Given the description of an element on the screen output the (x, y) to click on. 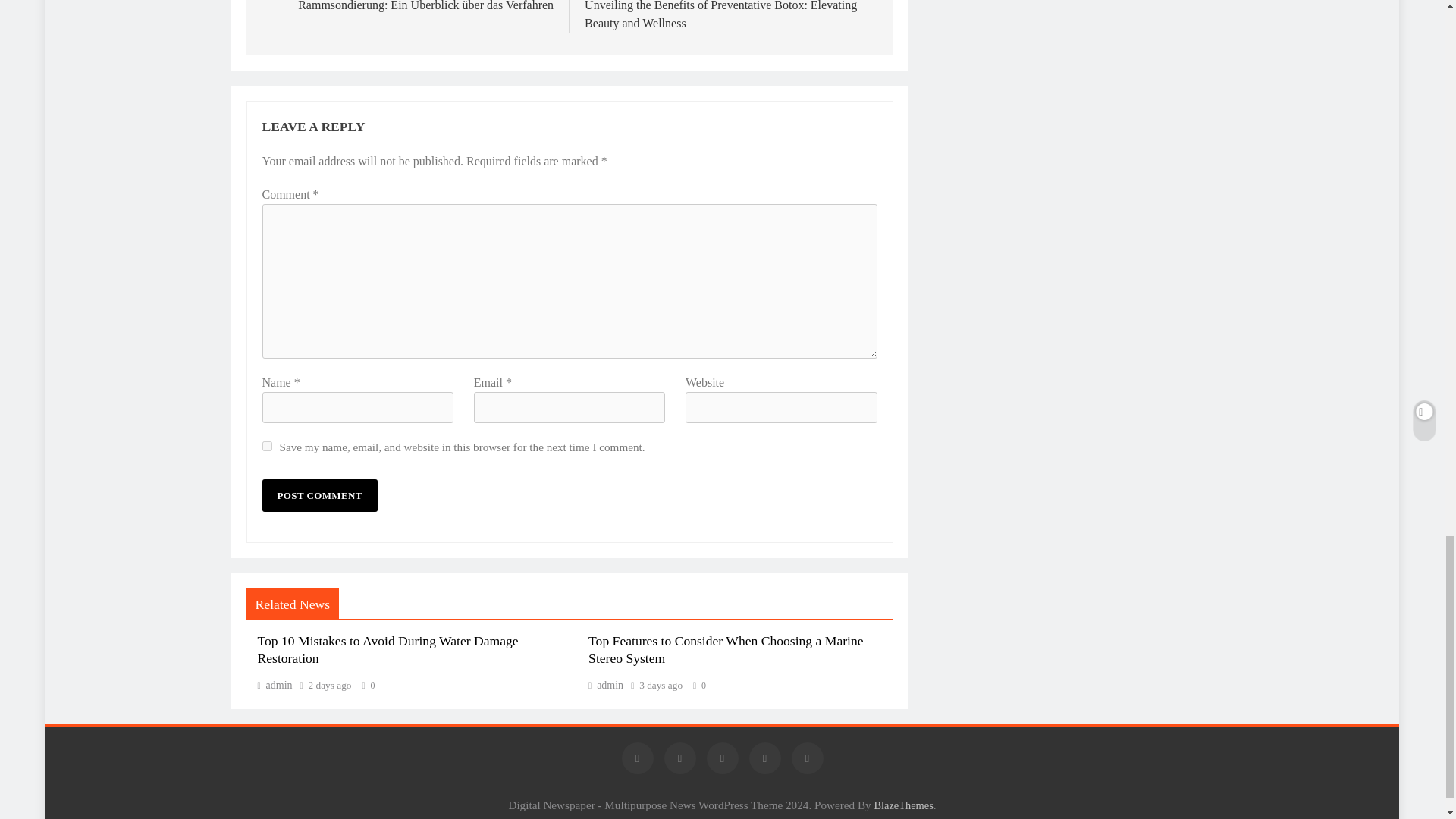
admin (274, 685)
3 days ago (660, 685)
Post Comment (319, 495)
Top 10 Mistakes to Avoid During Water Damage Restoration (387, 649)
2 days ago (330, 685)
yes (267, 446)
admin (605, 685)
Post Comment (319, 495)
